Given the description of an element on the screen output the (x, y) to click on. 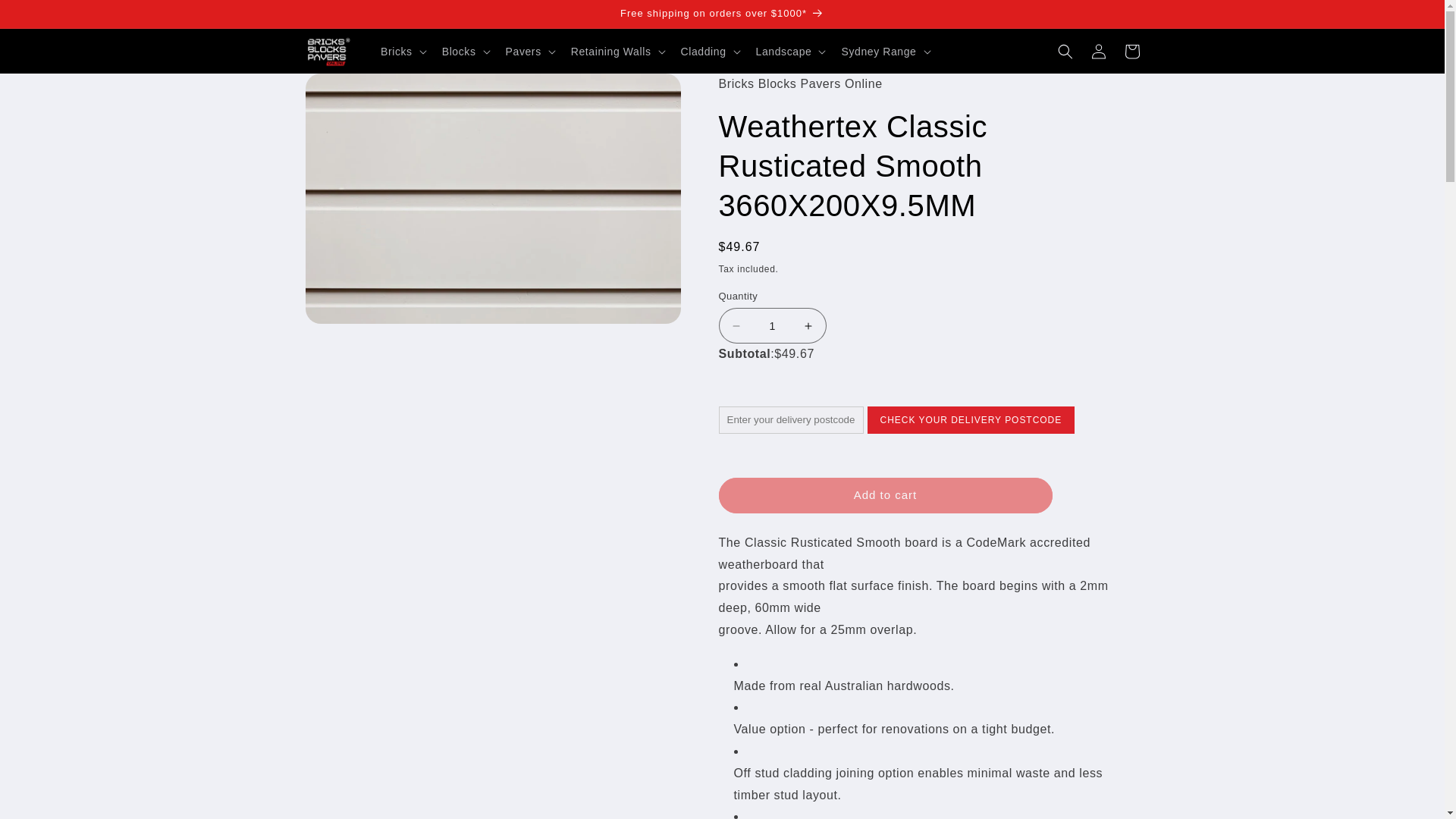
Check your delivery postcode (971, 420)
1 (773, 325)
Skip to content (45, 17)
